Given the description of an element on the screen output the (x, y) to click on. 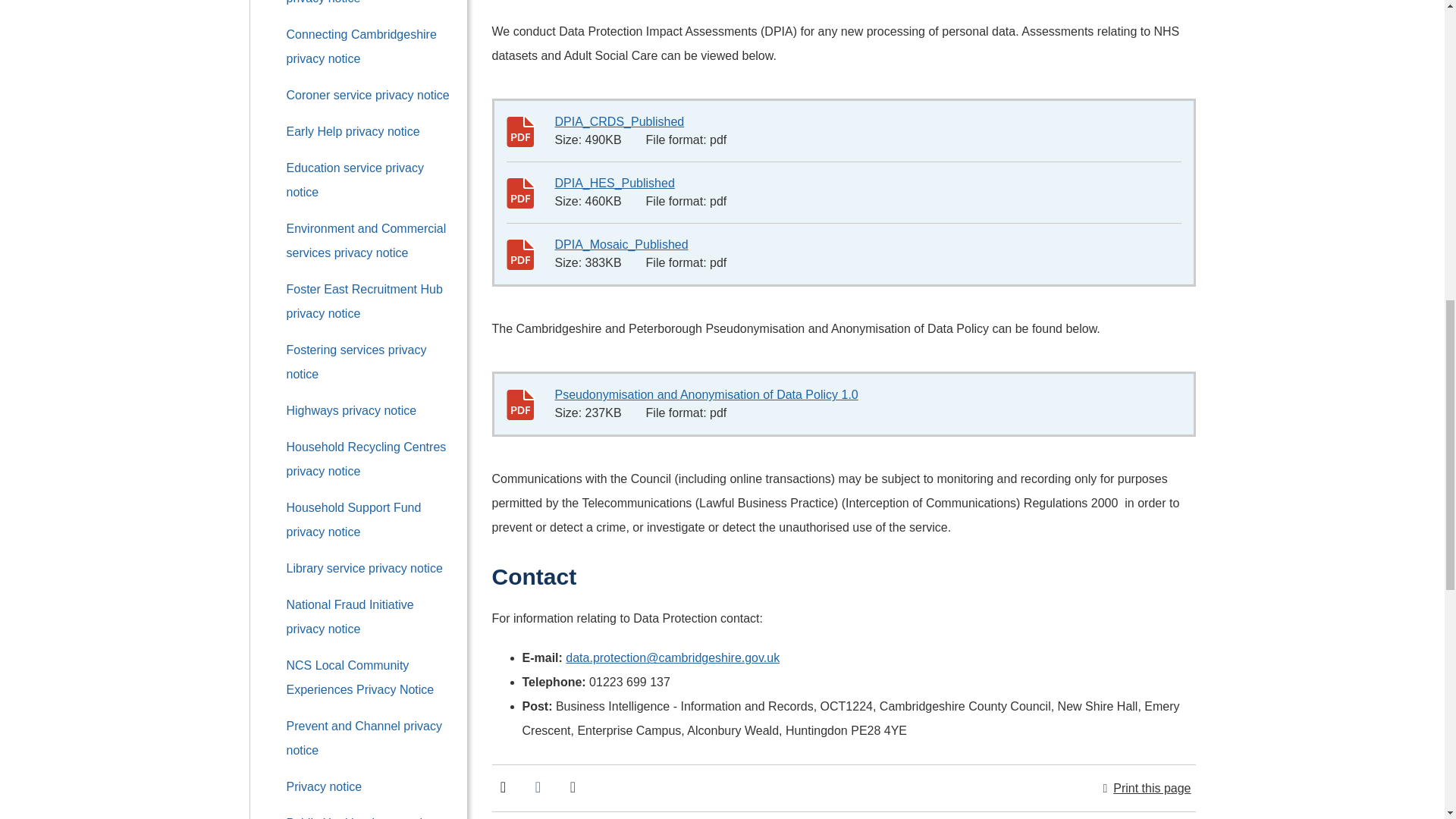
Print this page (1146, 788)
Cambridgeshire Pension Fund privacy notice (367, 2)
Coroner service privacy notice (367, 94)
Connecting Cambridgeshire privacy notice (361, 46)
